Given the description of an element on the screen output the (x, y) to click on. 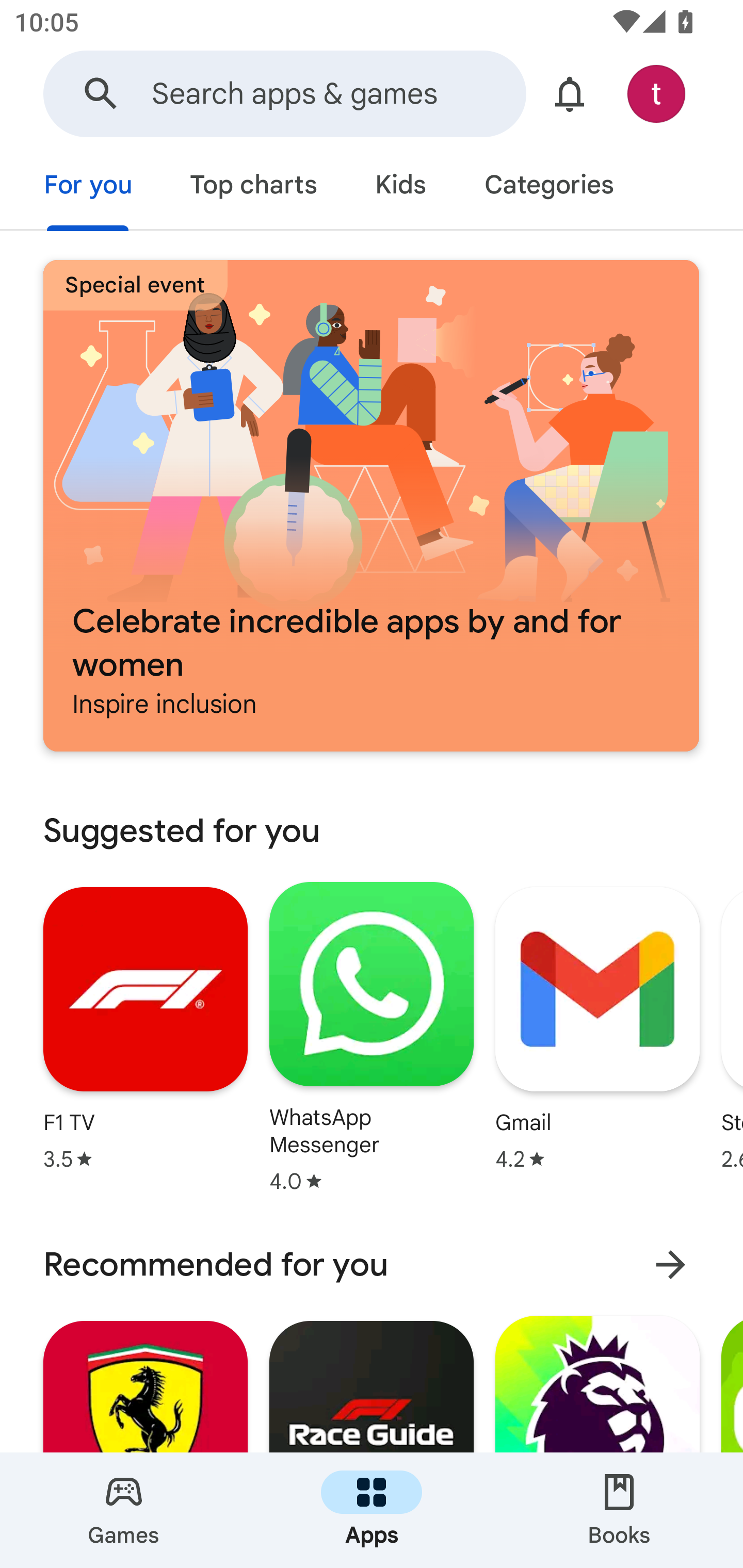
Search Google Play Search apps & games (284, 93)
Search Google Play (100, 93)
Show notifications and offers. (569, 93)
Top charts (253, 187)
Kids (400, 187)
Categories (548, 187)
F1 TV
Star rating: 3.5
 (145, 1028)
WhatsApp Messenger
Star rating: 4.0
 (371, 1037)
Gmail
Star rating: 4.2
 (597, 1028)
More results for Recommended for you (670, 1264)
Games (123, 1509)
Books (619, 1509)
